Given the description of an element on the screen output the (x, y) to click on. 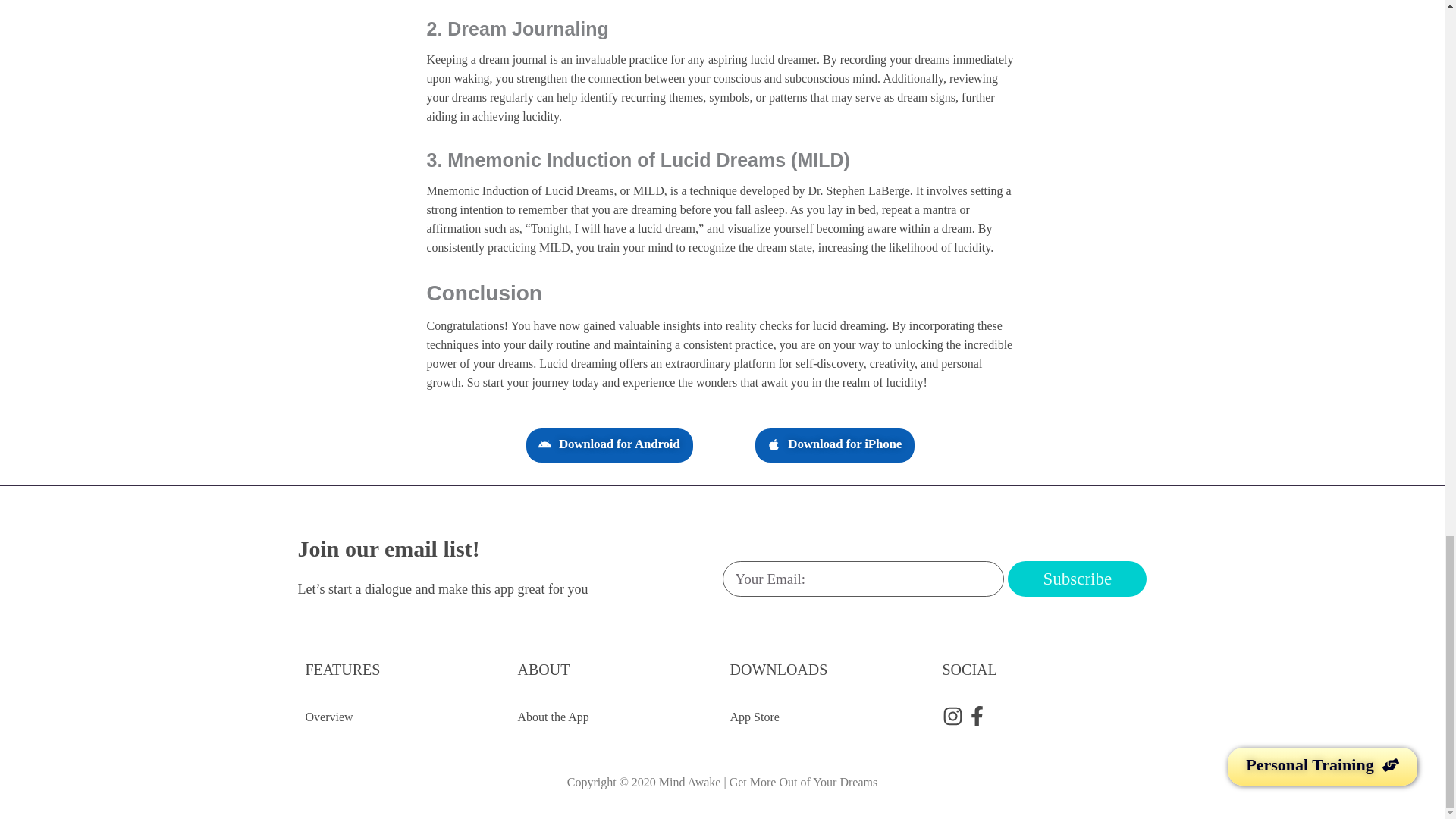
Subscribe (1077, 579)
Download for iPhone (834, 445)
Overview (403, 716)
ABOUT (542, 669)
App Store (827, 716)
About the App (615, 716)
Download for Android (609, 445)
